Given the description of an element on the screen output the (x, y) to click on. 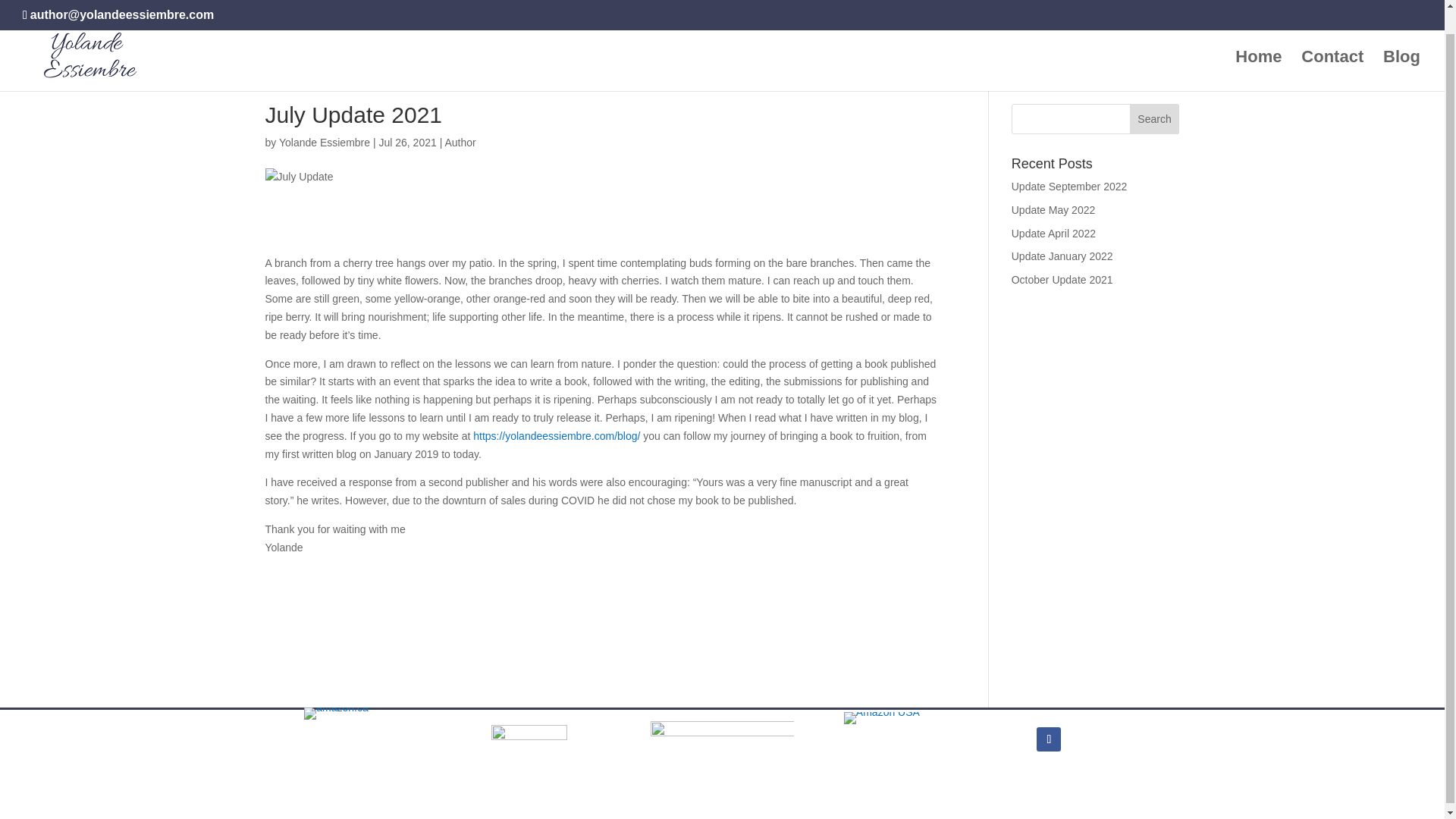
Update April 2022 (1053, 233)
Posts by Yolande Essiembre (324, 142)
October Update 2021 (1062, 279)
Yolande Essiembre (324, 142)
amazon.ca (336, 713)
Update January 2022 (1062, 256)
Search (1154, 119)
Author (460, 142)
Home (1257, 46)
Blog (1402, 46)
